Given the description of an element on the screen output the (x, y) to click on. 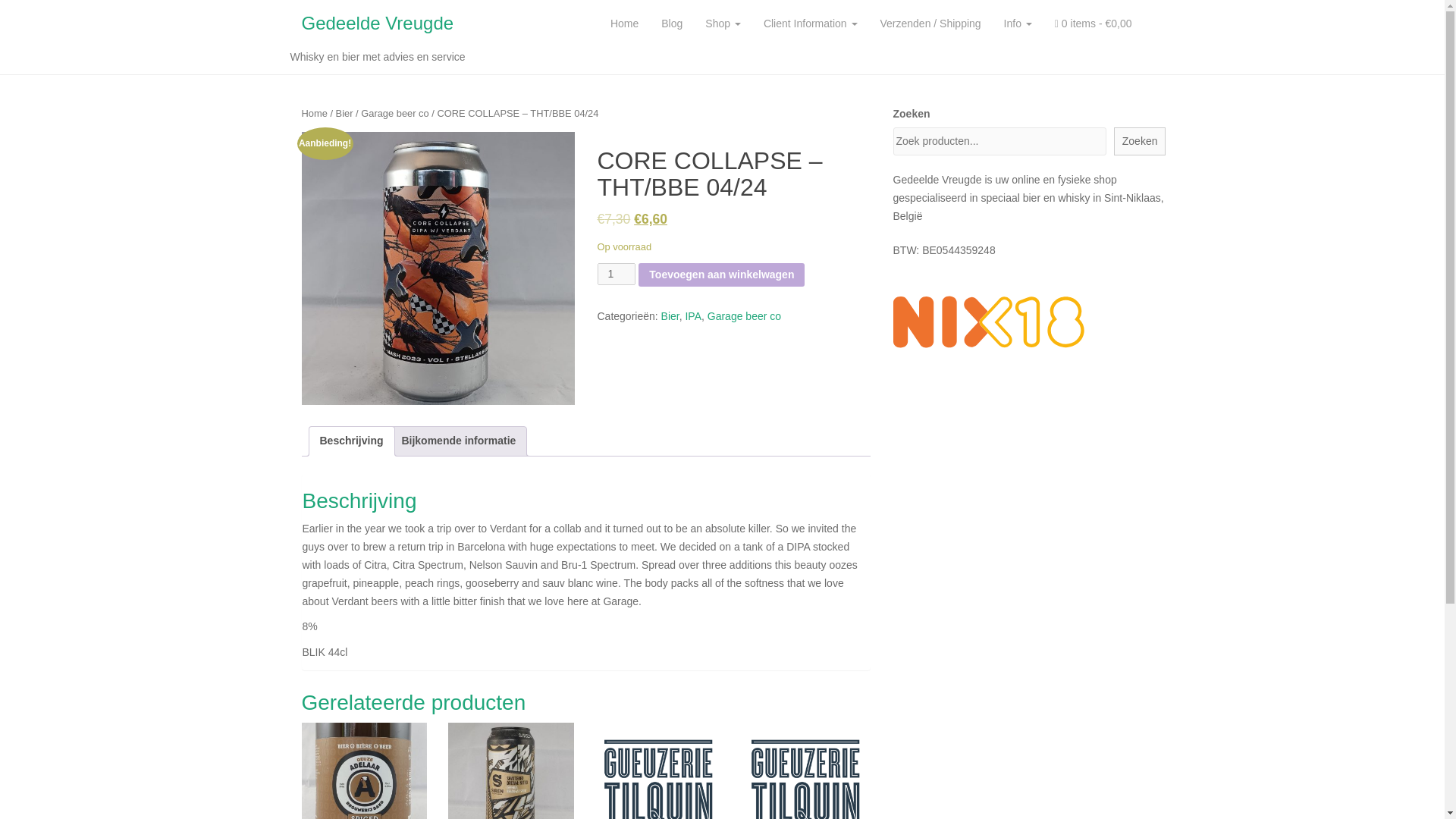
Home (623, 24)
Client Information (810, 24)
Client Information (810, 24)
Gedeelde Vreugde (376, 23)
Beschrijving (352, 440)
1 (616, 273)
Bier (670, 316)
Garage beer co (743, 316)
Garage beer co (394, 112)
Blog (671, 24)
IPA (692, 316)
Toevoegen aan winkelwagen (722, 274)
Bijkomende informatie (458, 440)
Info (1017, 24)
Shop (723, 24)
